Given the description of an element on the screen output the (x, y) to click on. 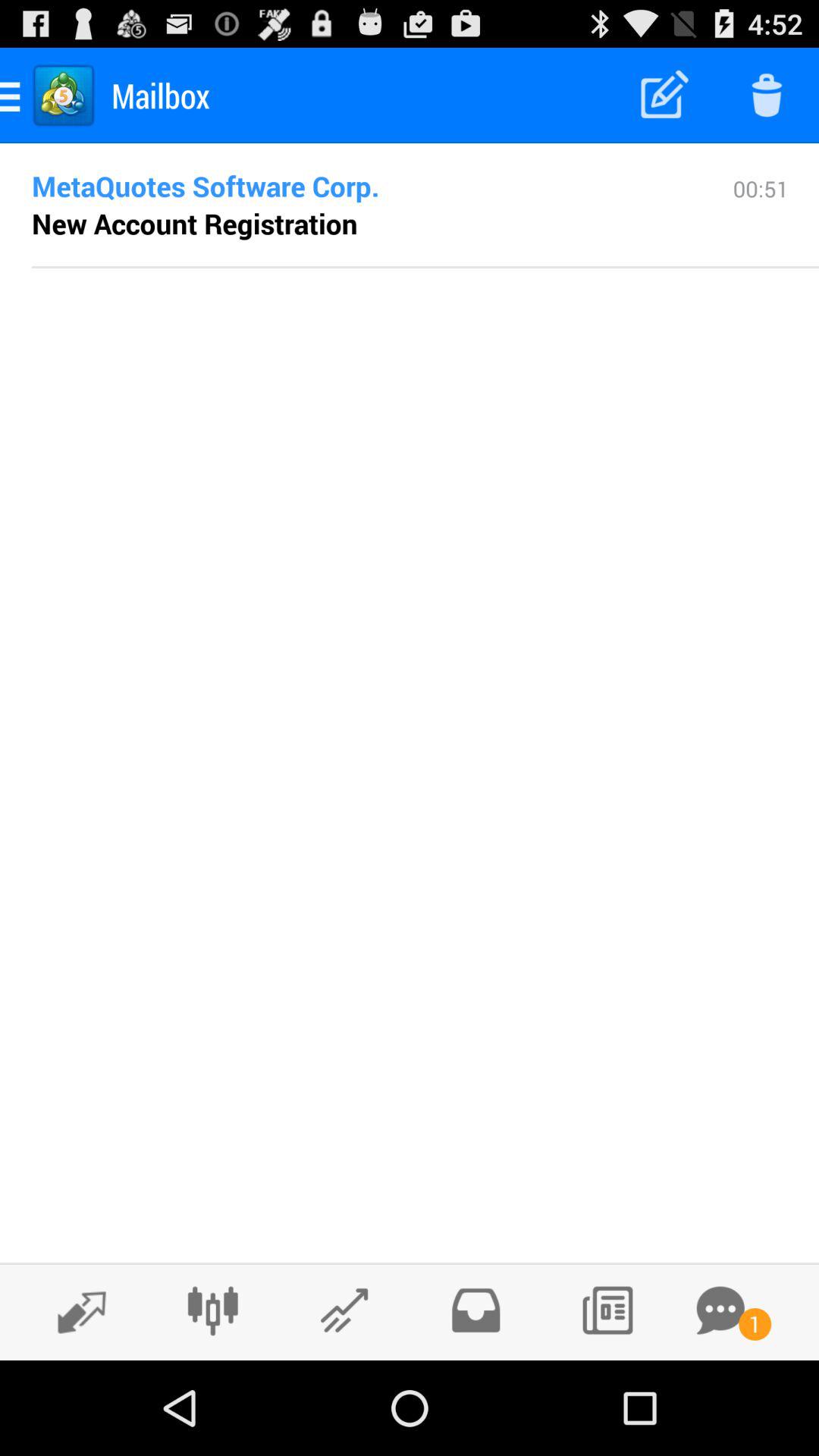
select the new account registration icon (194, 223)
